Given the description of an element on the screen output the (x, y) to click on. 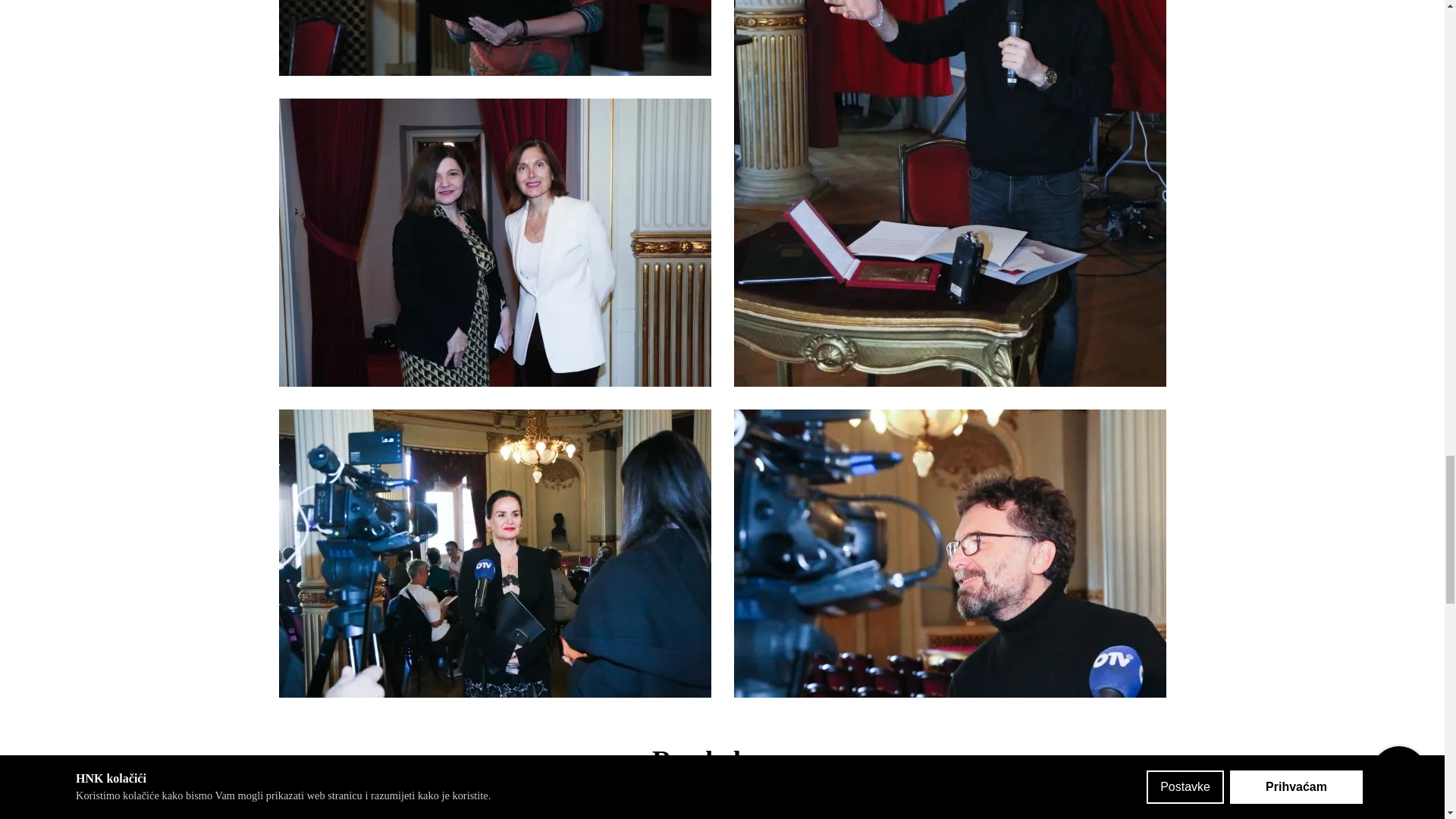
Radno vrijeme blagajne (381, 809)
